Given the description of an element on the screen output the (x, y) to click on. 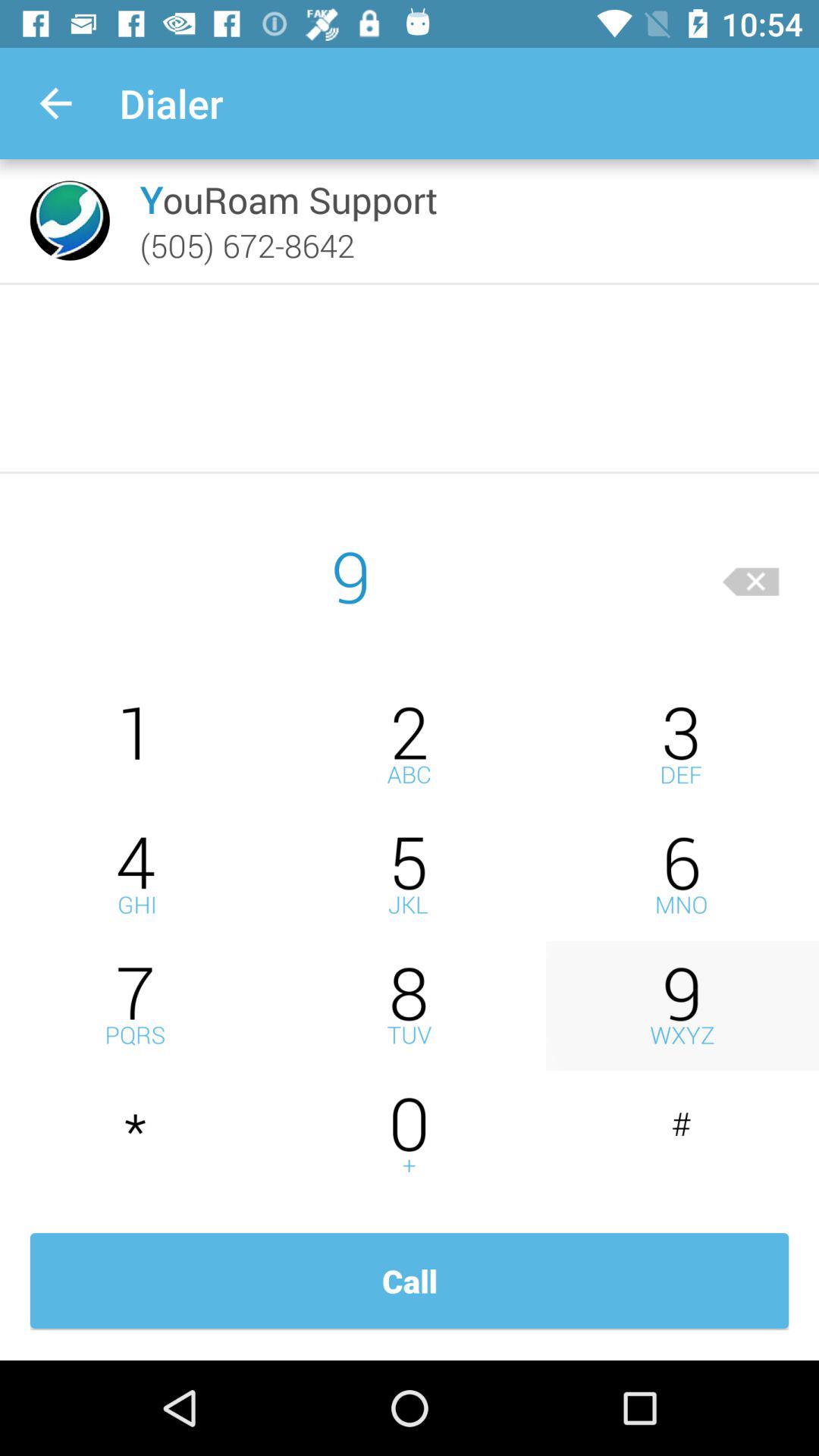
9 (682, 1005)
